Given the description of an element on the screen output the (x, y) to click on. 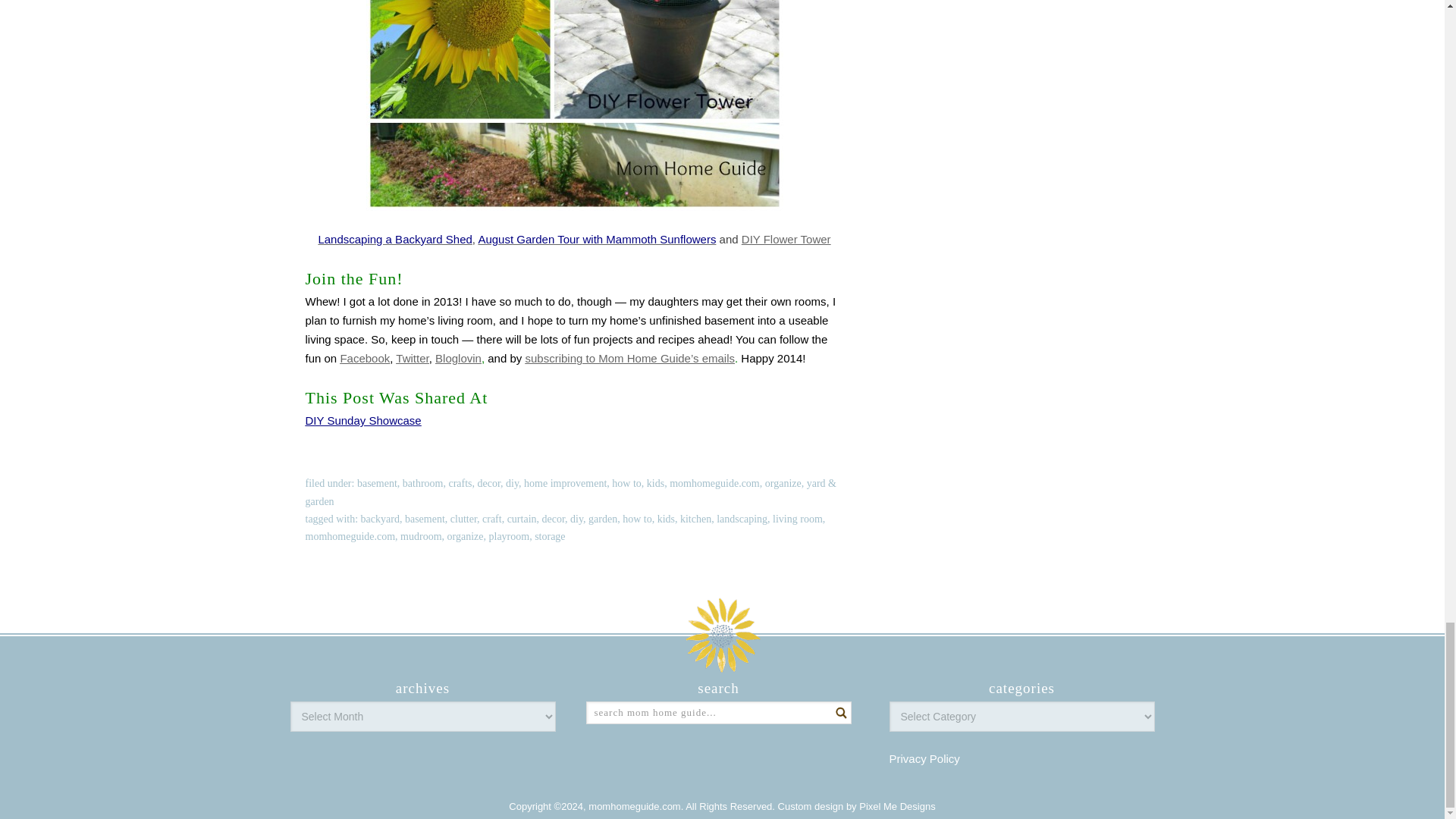
Bloglovin (458, 358)
August Garden Tour with Mammoth Sunflowers (596, 238)
Landscaping a Backyard Shed (394, 238)
DIY Sunday Showcase (362, 420)
DIY Flower Tower (786, 238)
basement (376, 482)
Facebook (364, 358)
Twitter (412, 358)
